Given the description of an element on the screen output the (x, y) to click on. 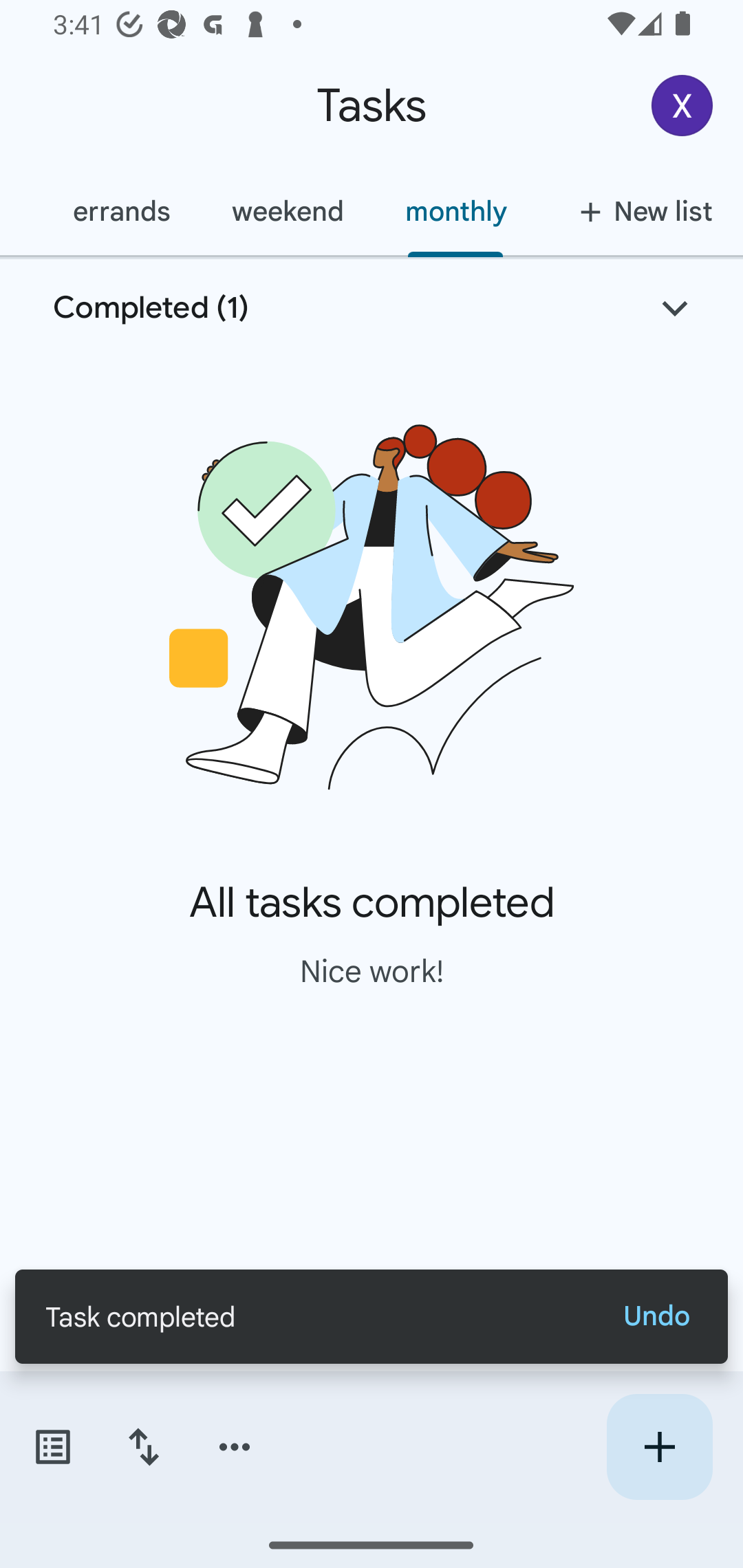
errands (120, 211)
weekend (287, 211)
New list (640, 211)
Completed (1) (371, 307)
Undo (656, 1316)
Switch task lists (52, 1447)
Create new task (659, 1446)
Change sort order (143, 1446)
More options (234, 1446)
